Given the description of an element on the screen output the (x, y) to click on. 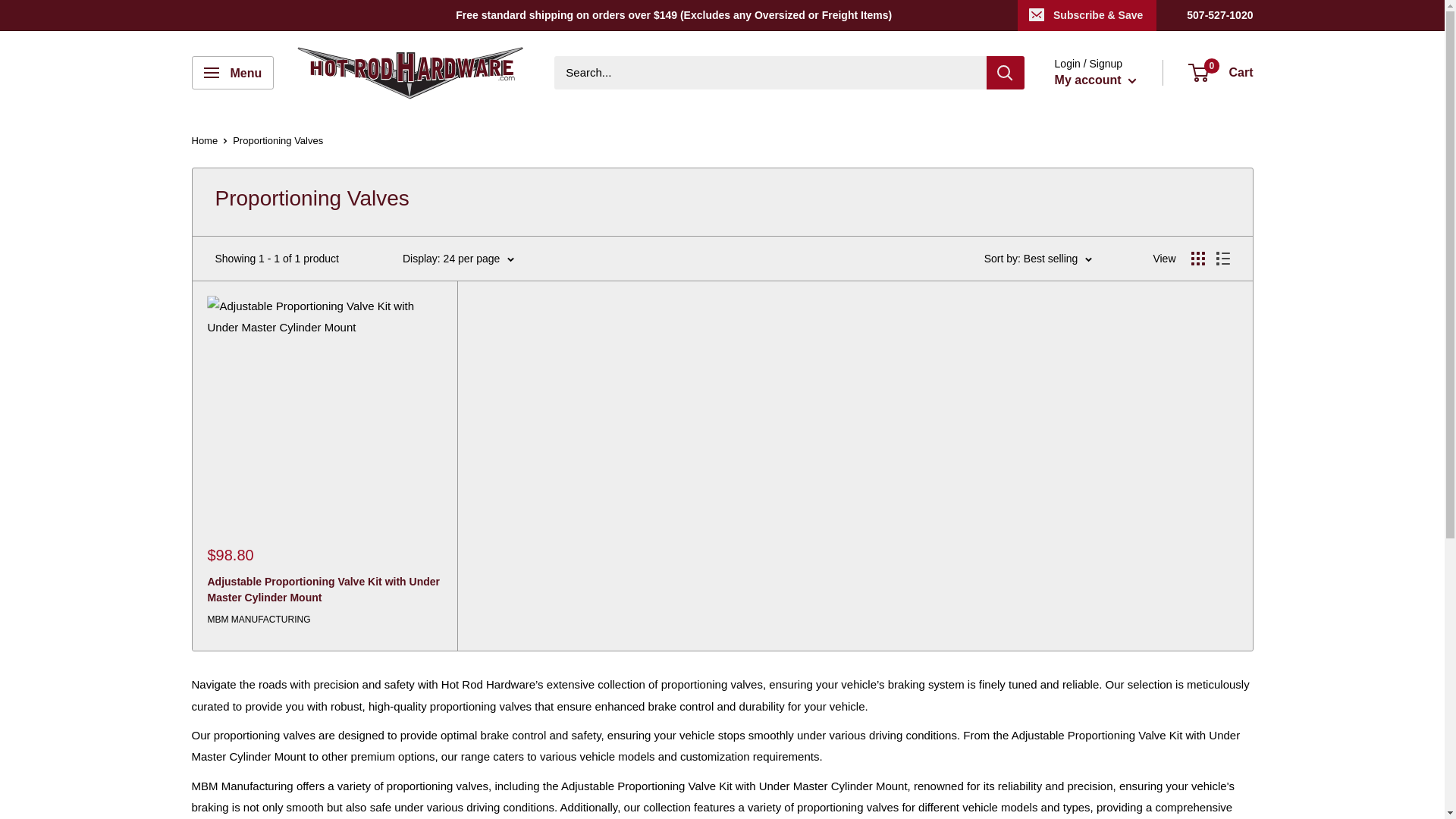
507-527-1020 (1219, 15)
